Given the description of an element on the screen output the (x, y) to click on. 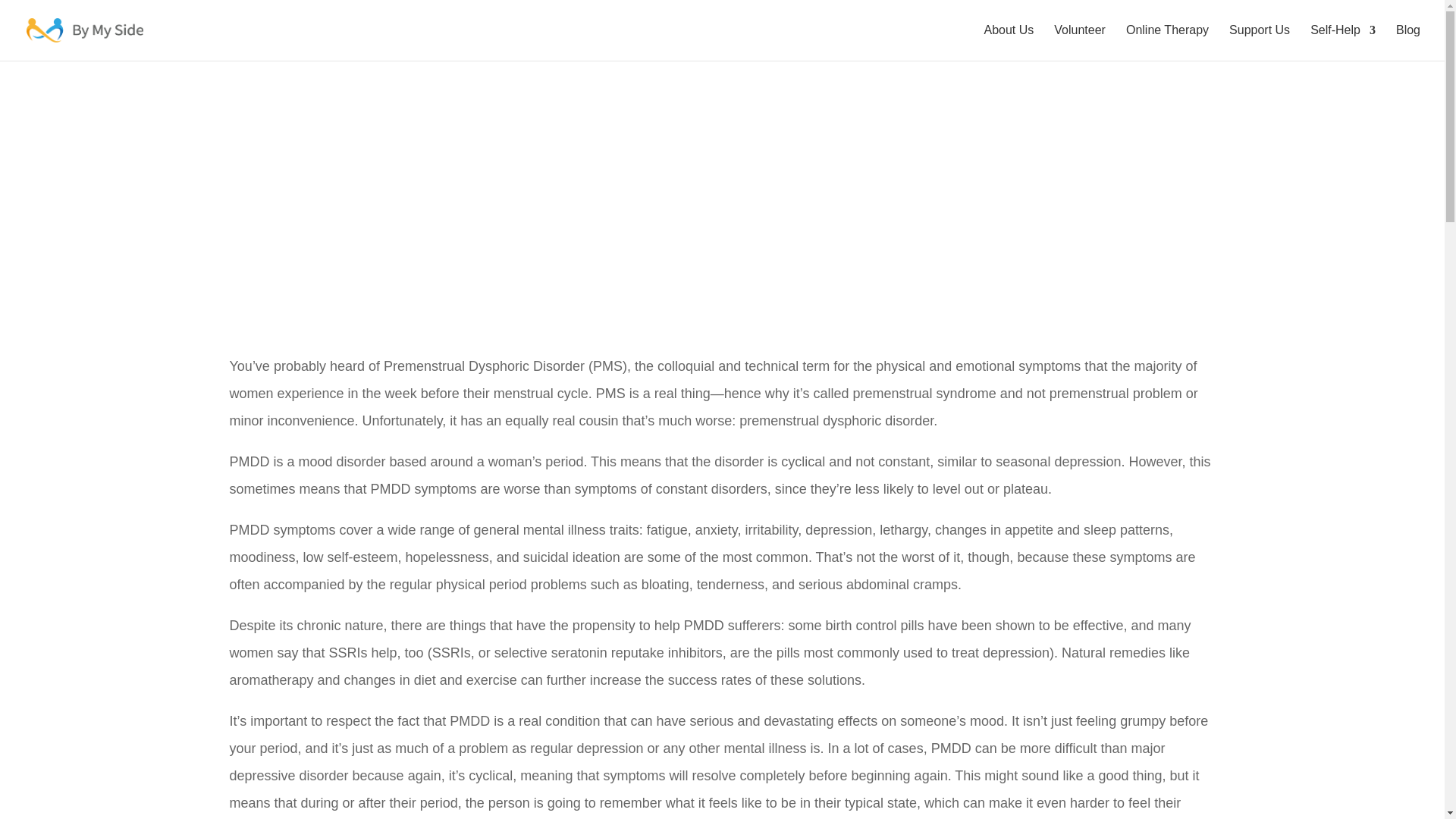
Self-Help (1342, 42)
About Us (1008, 42)
Support Us (1259, 42)
Online Therapy (1166, 42)
Volunteer (1079, 42)
